Given the description of an element on the screen output the (x, y) to click on. 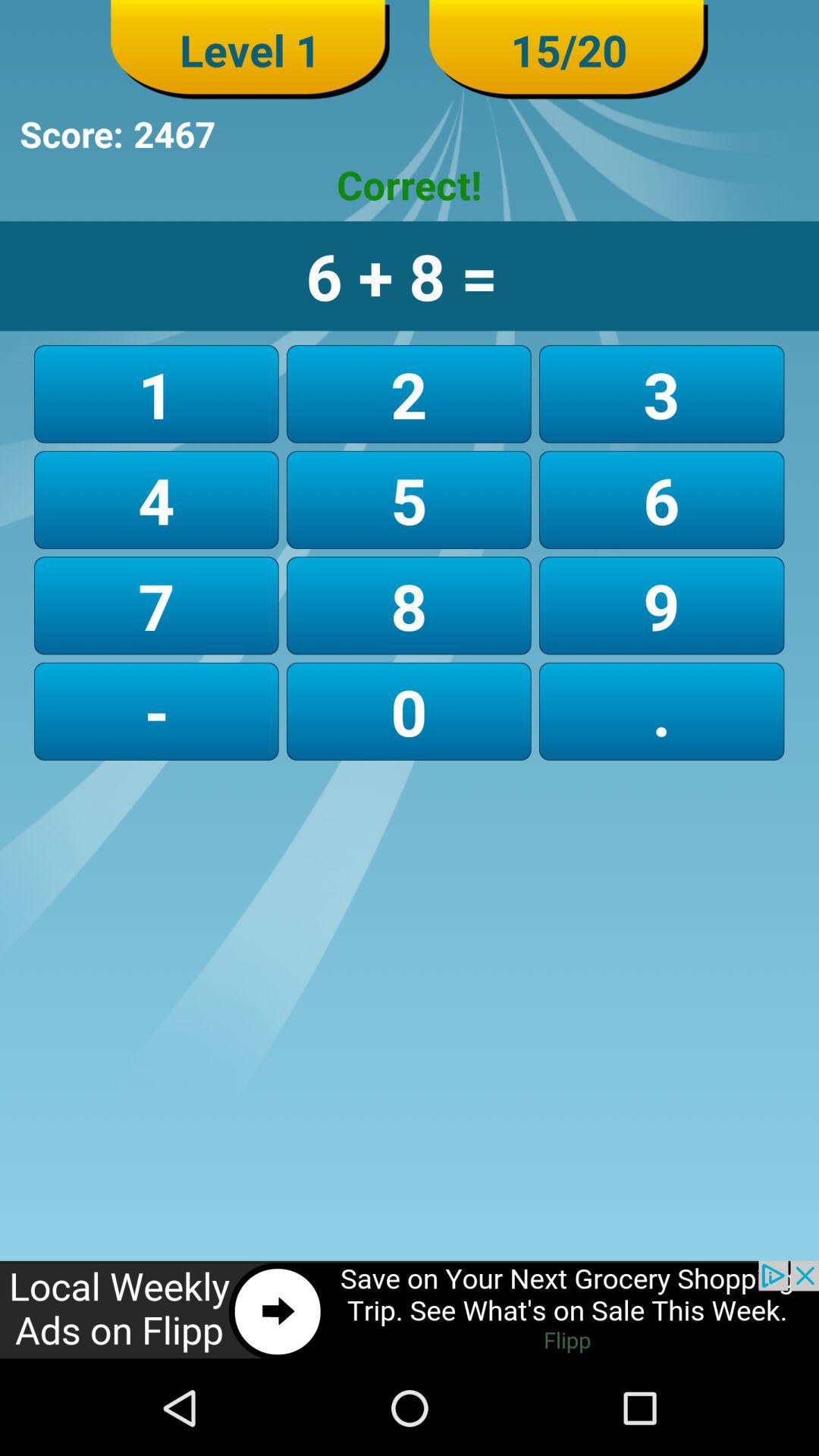
click app below 6 + 8 = 1 item (661, 394)
